Given the description of an element on the screen output the (x, y) to click on. 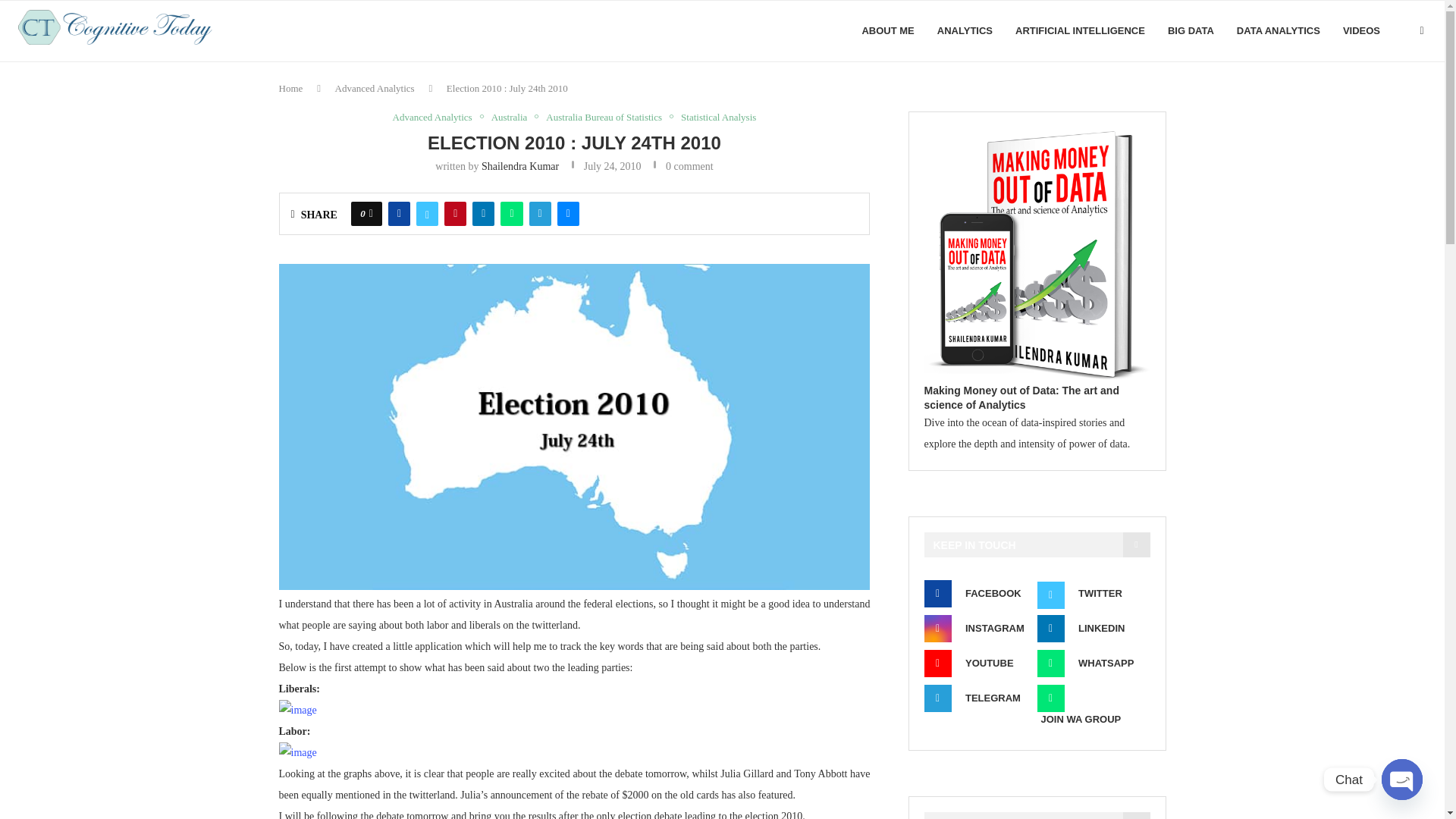
ARTIFICIAL INTELLIGENCE (1079, 30)
Like (370, 213)
DATA ANALYTICS (1278, 30)
ABOUT ME (887, 30)
Statistical Analysis (718, 117)
Shailendra Kumar (520, 165)
image (298, 710)
BIG DATA (1190, 30)
ANALYTICS (964, 30)
Home (290, 88)
Australia (513, 117)
Australia Bureau of Statistics (607, 117)
Advanced Analytics (436, 117)
VIDEOS (1361, 30)
image (298, 752)
